Given the description of an element on the screen output the (x, y) to click on. 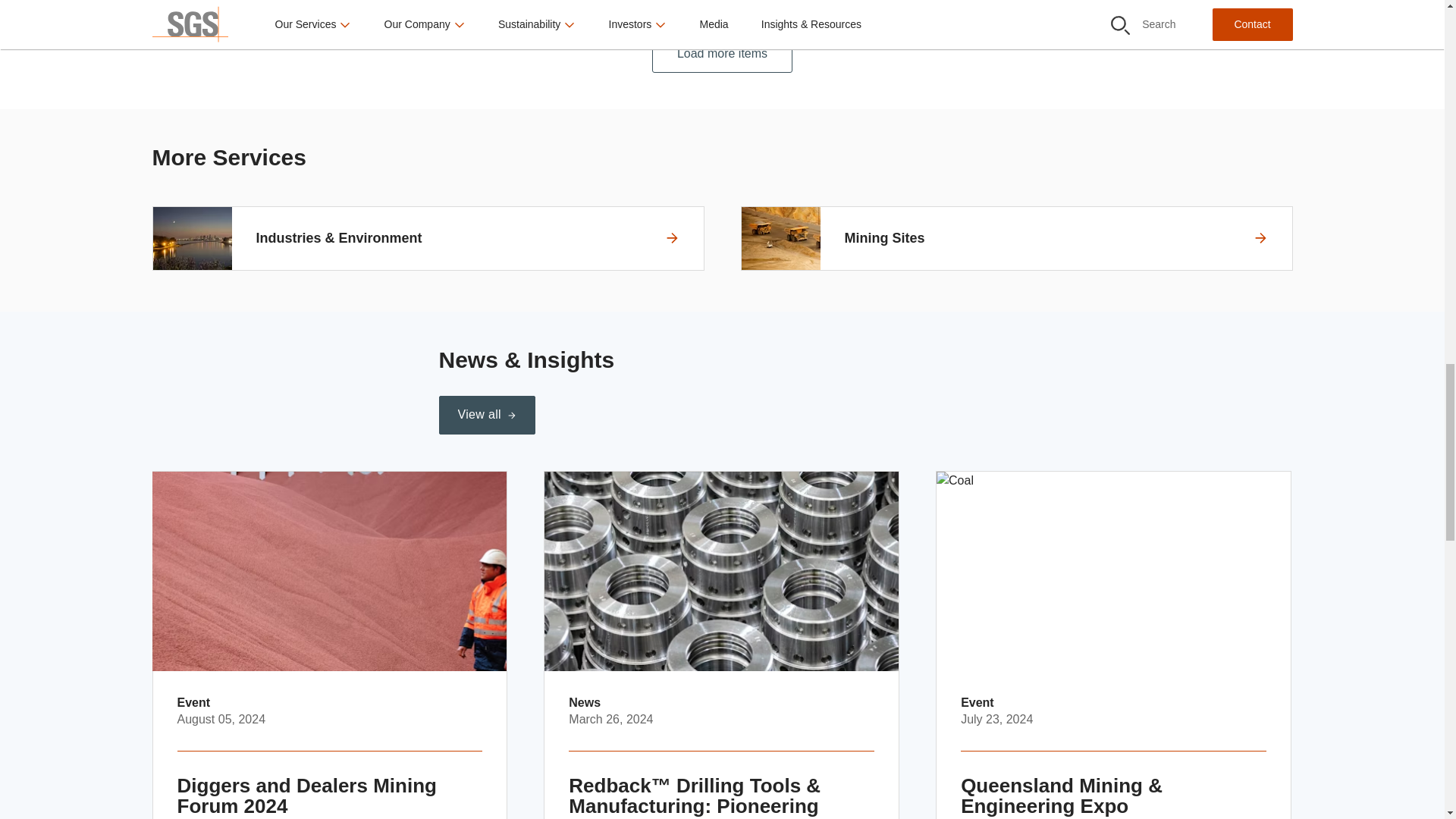
Mining Sites (1016, 238)
View all (486, 414)
Load more items (328, 644)
